Given the description of an element on the screen output the (x, y) to click on. 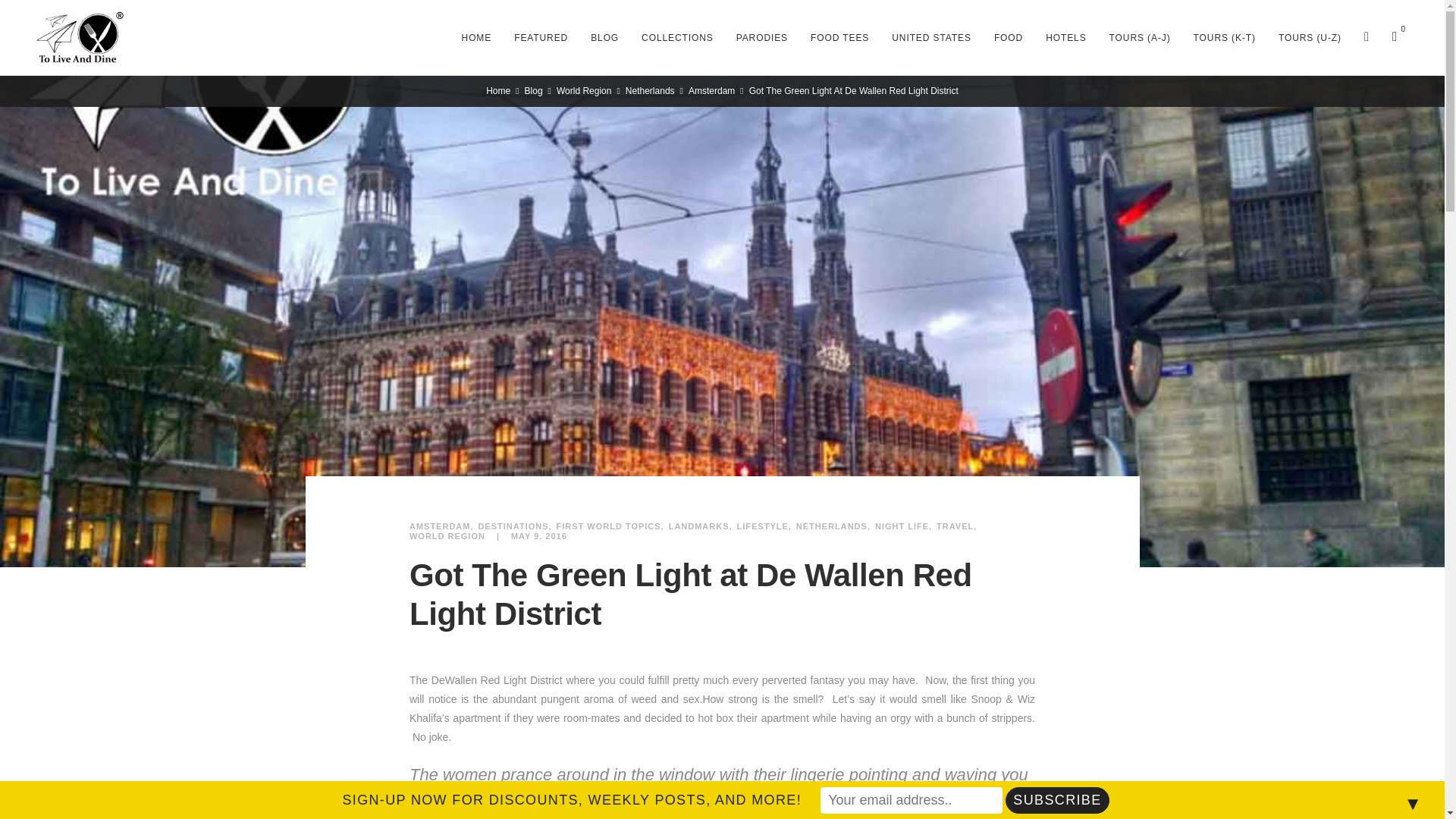
Landmarks (700, 526)
Amsterdam (441, 526)
Netherlands (833, 526)
Travel (956, 526)
Night Life (903, 526)
FEATURED (540, 37)
Destinations (514, 526)
Lifestyle (764, 526)
World Region (446, 536)
Subscribe (1057, 800)
First World Topics (609, 526)
